Given the description of an element on the screen output the (x, y) to click on. 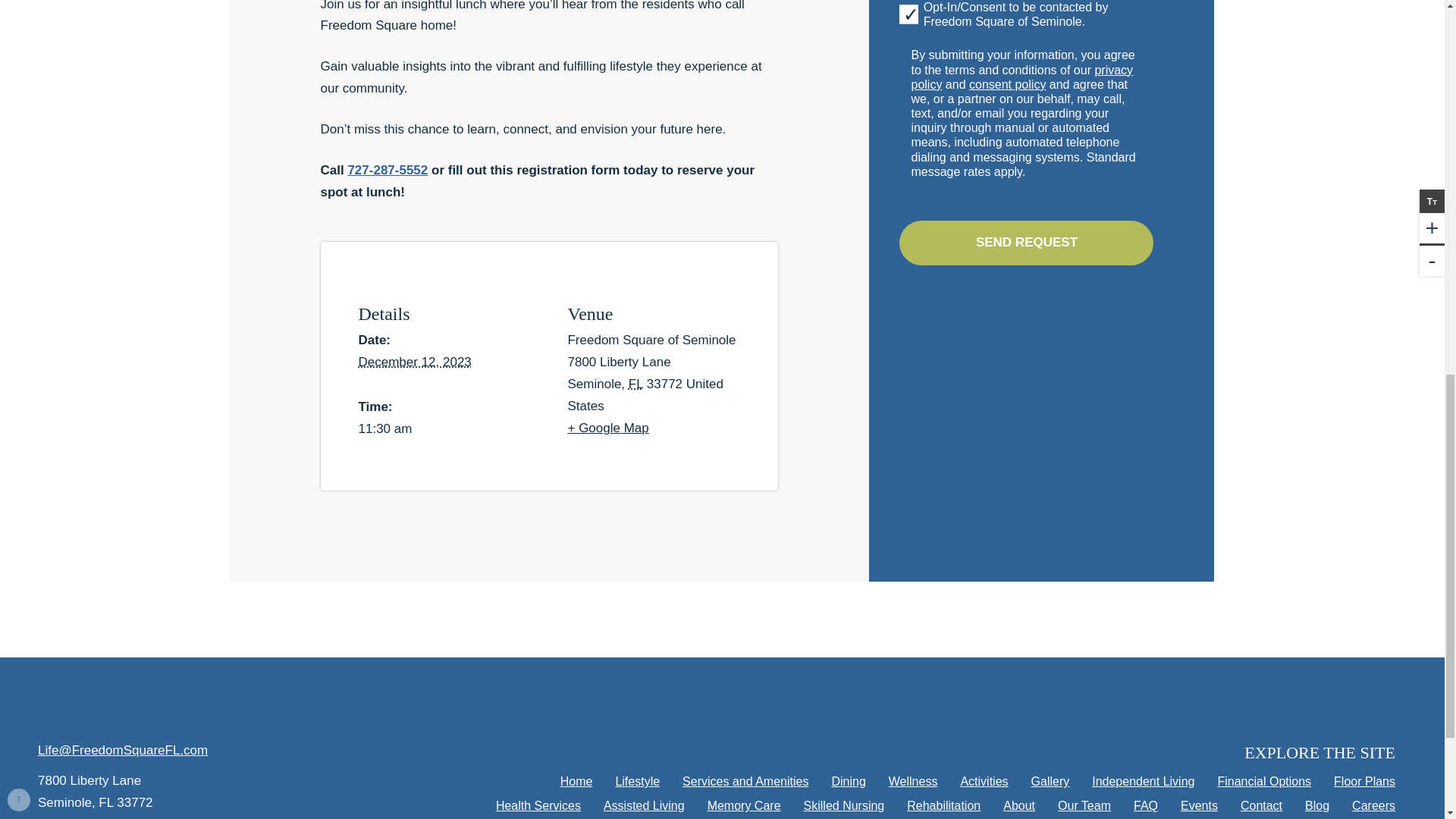
2023-12-12 (453, 429)
Florida (635, 383)
Send Request (1026, 242)
privacy policy (1021, 76)
consent policy (1007, 83)
Link to Google Map (216, 792)
Send Request (1026, 242)
727-287-5552 (387, 169)
2023-12-12 (414, 361)
Freedom Square of Seminole (216, 701)
Click to view a Google Map (662, 428)
